Given the description of an element on the screen output the (x, y) to click on. 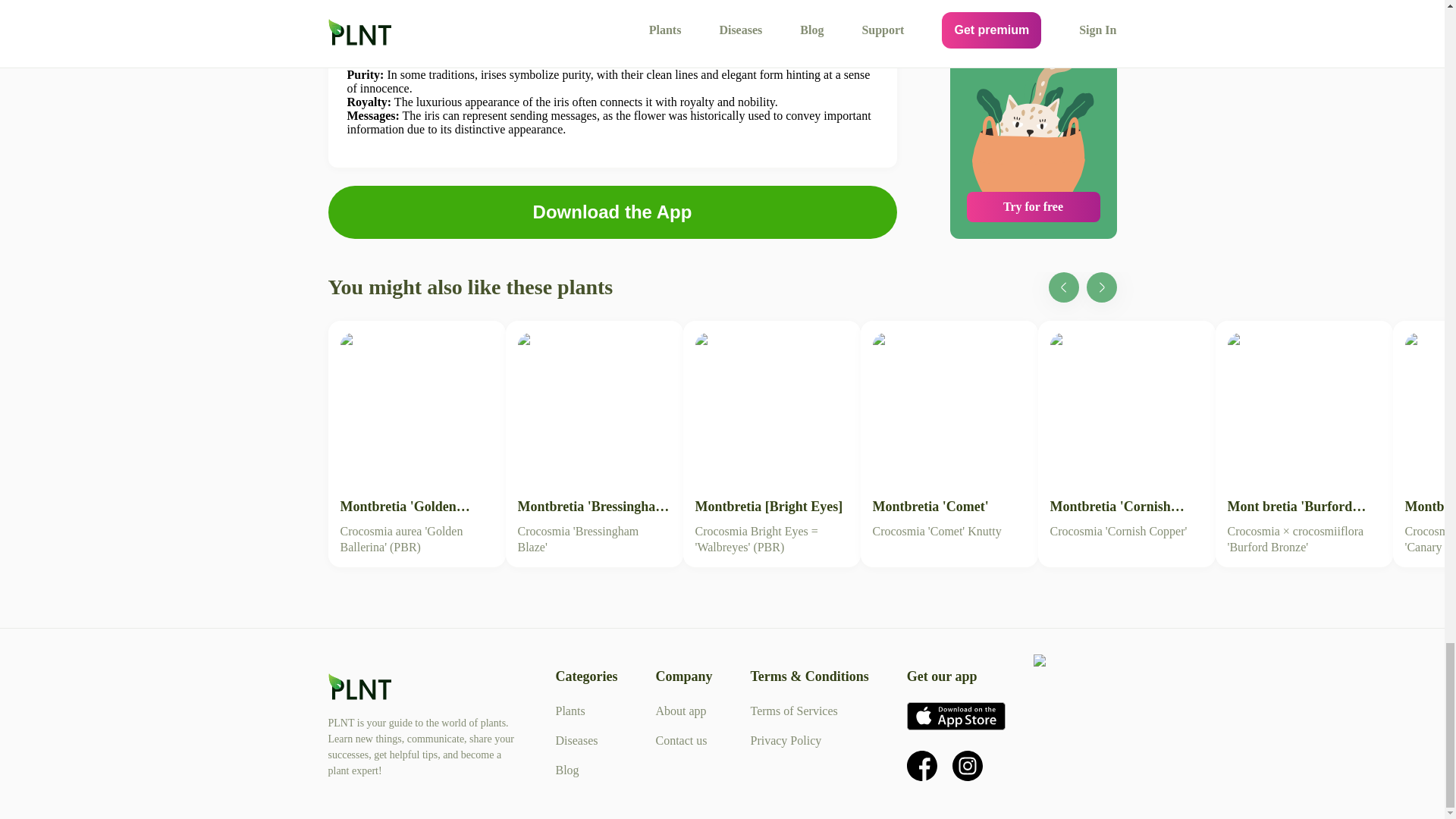
Terms of Services (793, 710)
Plants (569, 710)
Privacy Policy (785, 739)
Contact us (680, 739)
Download the App (611, 212)
About app (680, 710)
Download the App (611, 212)
Diseases (575, 739)
Blog (566, 769)
